Given the description of an element on the screen output the (x, y) to click on. 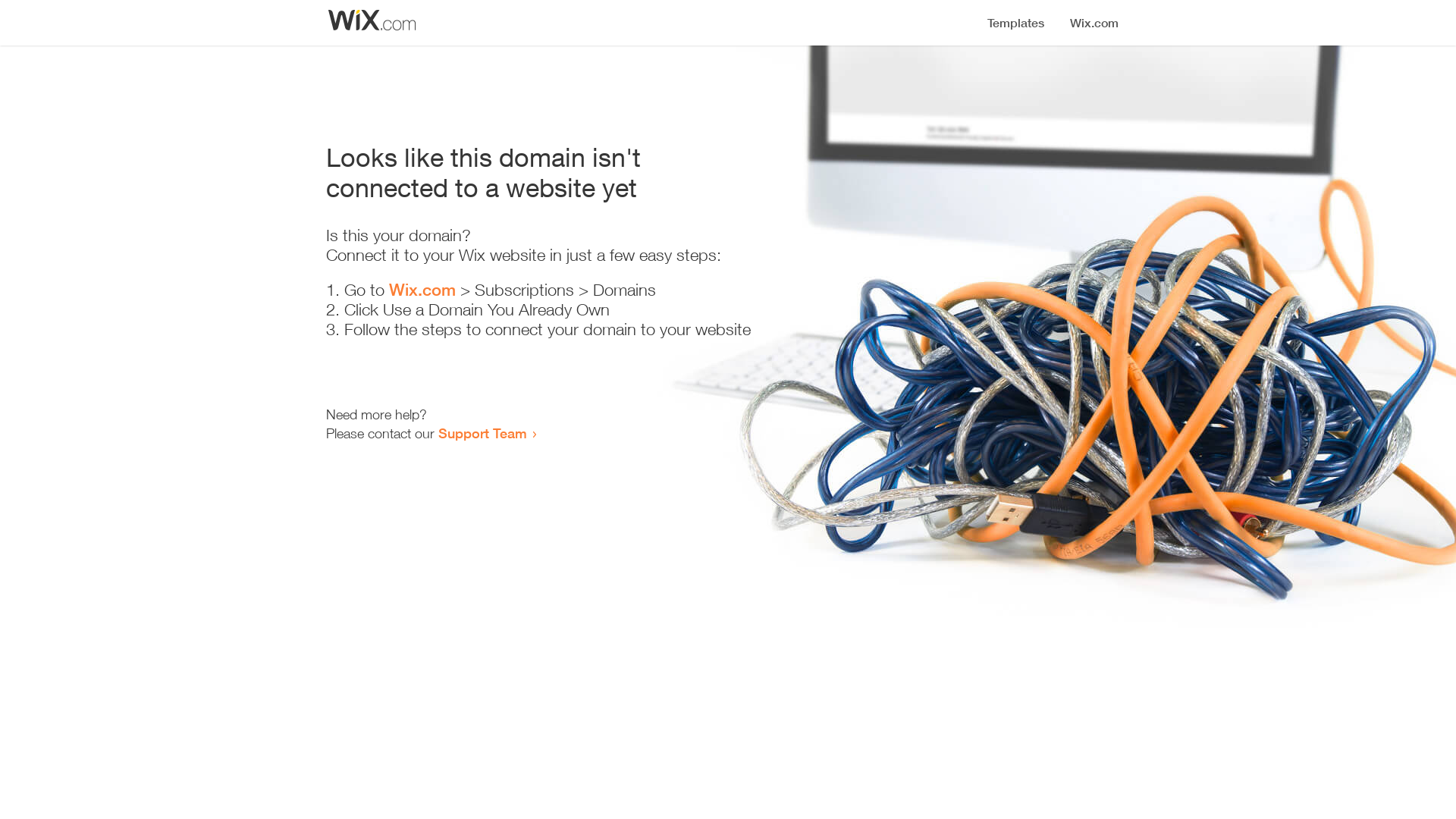
Wix.com Element type: text (422, 289)
Support Team Element type: text (482, 432)
